Given the description of an element on the screen output the (x, y) to click on. 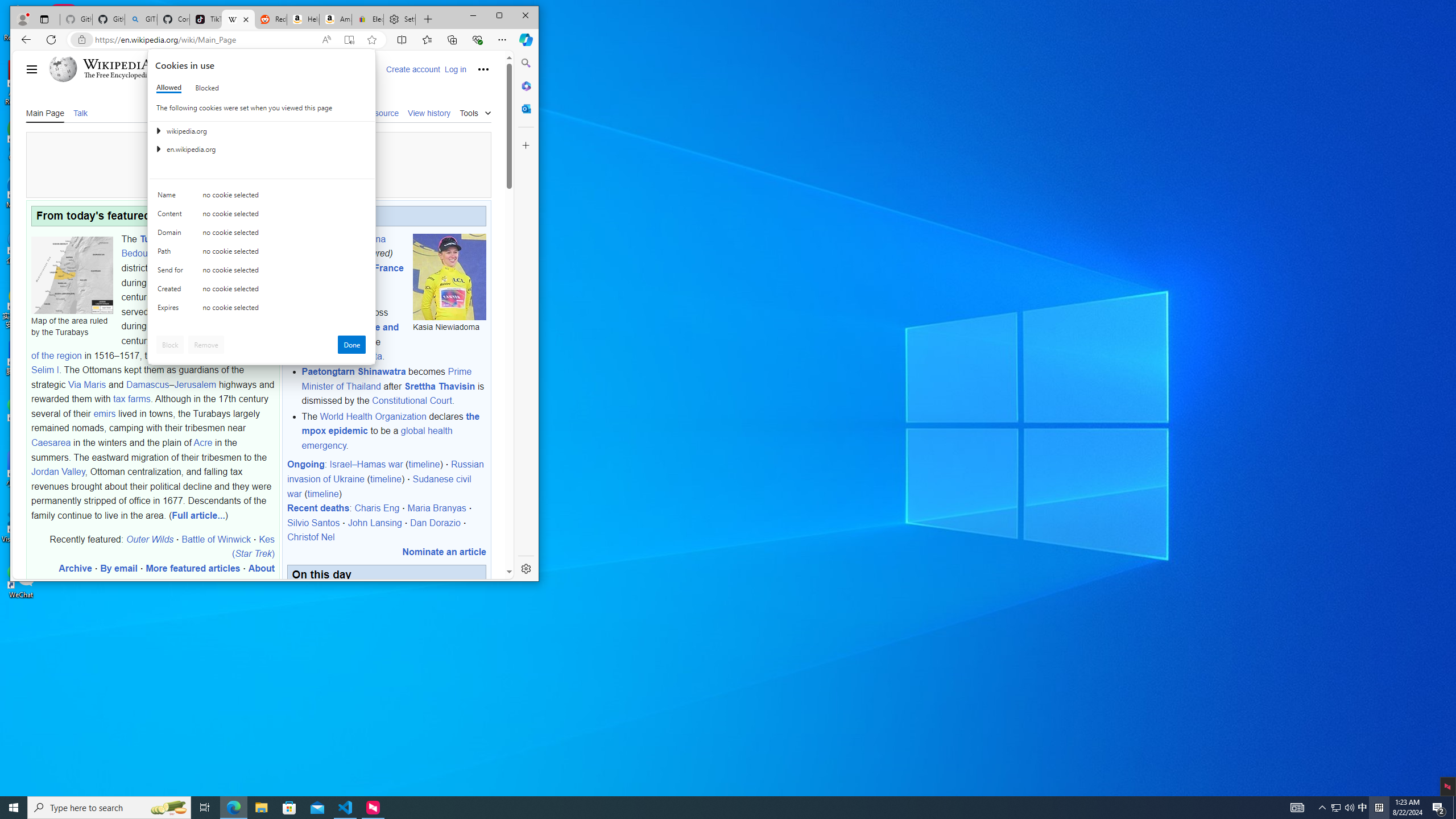
User Promoted Notification Area (1342, 807)
Search highlights icon opens search home window (167, 807)
Class: c0153 c0157 c0154 (261, 197)
Task View (204, 807)
AutomationID: 4105 (1297, 807)
Action Center, 2 new notifications (1439, 807)
Expires (172, 310)
Microsoft Edge - 1 running window (233, 807)
Remove (205, 344)
Class: c0153 c0157 (261, 309)
Type here to search (108, 807)
Microsoft Store (289, 807)
Domain (172, 235)
